Given the description of an element on the screen output the (x, y) to click on. 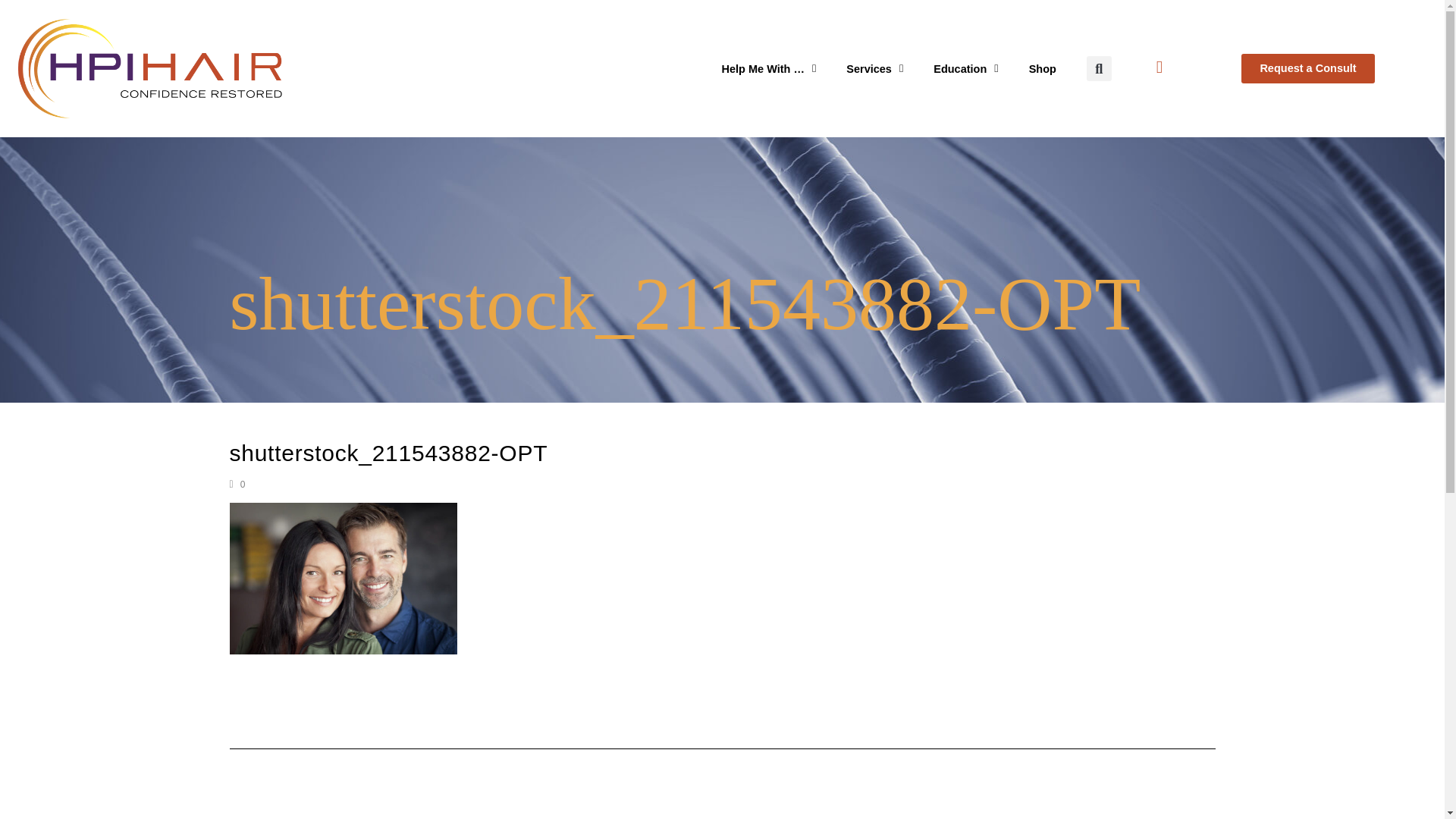
Shop (1042, 68)
Services (874, 68)
Education (965, 68)
Like this (236, 484)
